Given the description of an element on the screen output the (x, y) to click on. 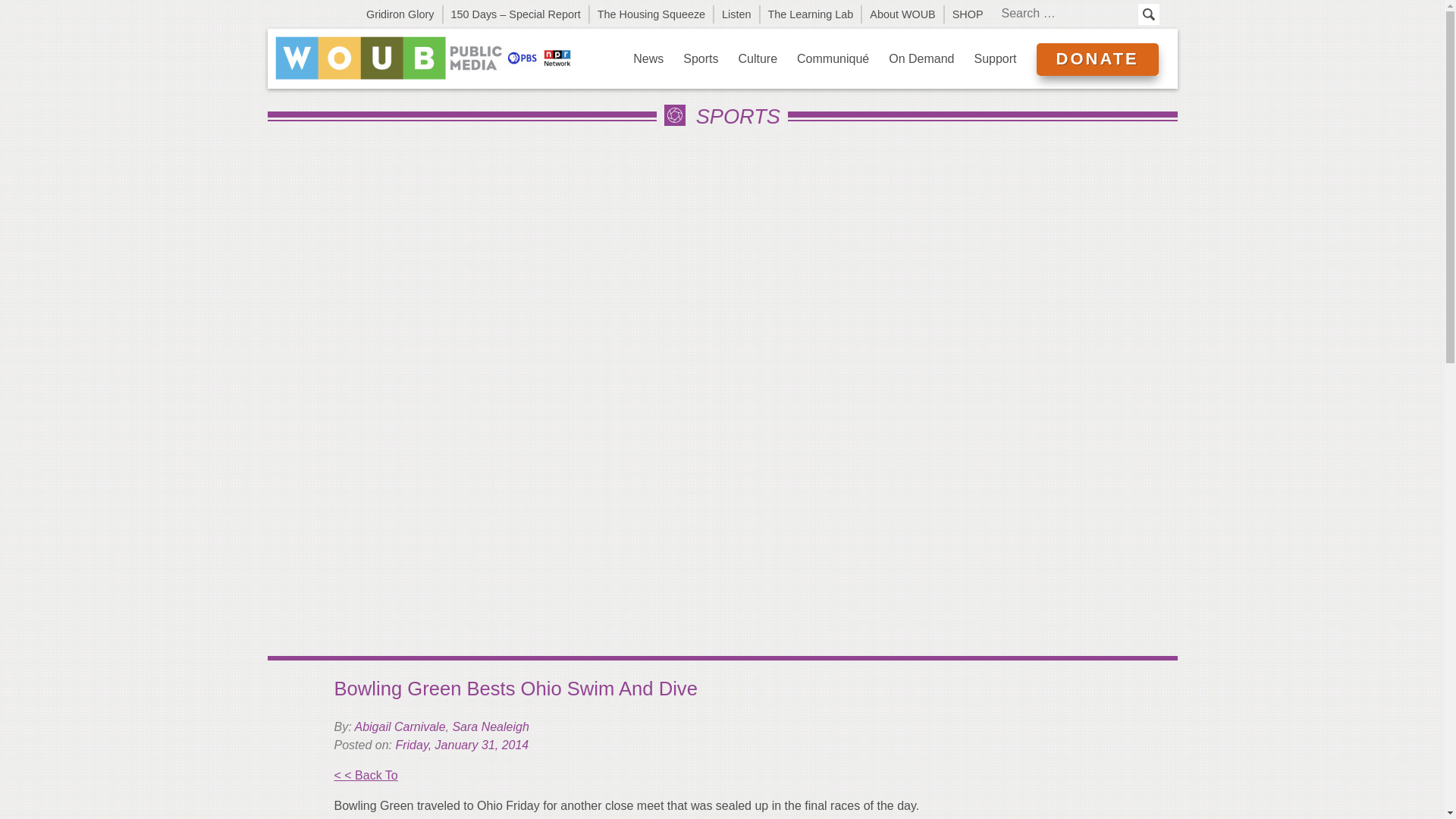
About WOUB (902, 13)
News (647, 58)
Listen (737, 13)
SHOP (967, 13)
Search for: (1067, 13)
Sara Nealeigh (489, 726)
Sports (700, 58)
Support (994, 58)
news (647, 58)
culture (757, 58)
Abigail Carnivale (399, 726)
Friday, January 31, 2014 (461, 744)
Gridiron Glory (401, 13)
The Learning Lab (810, 13)
DONATE (1096, 59)
